Given the description of an element on the screen output the (x, y) to click on. 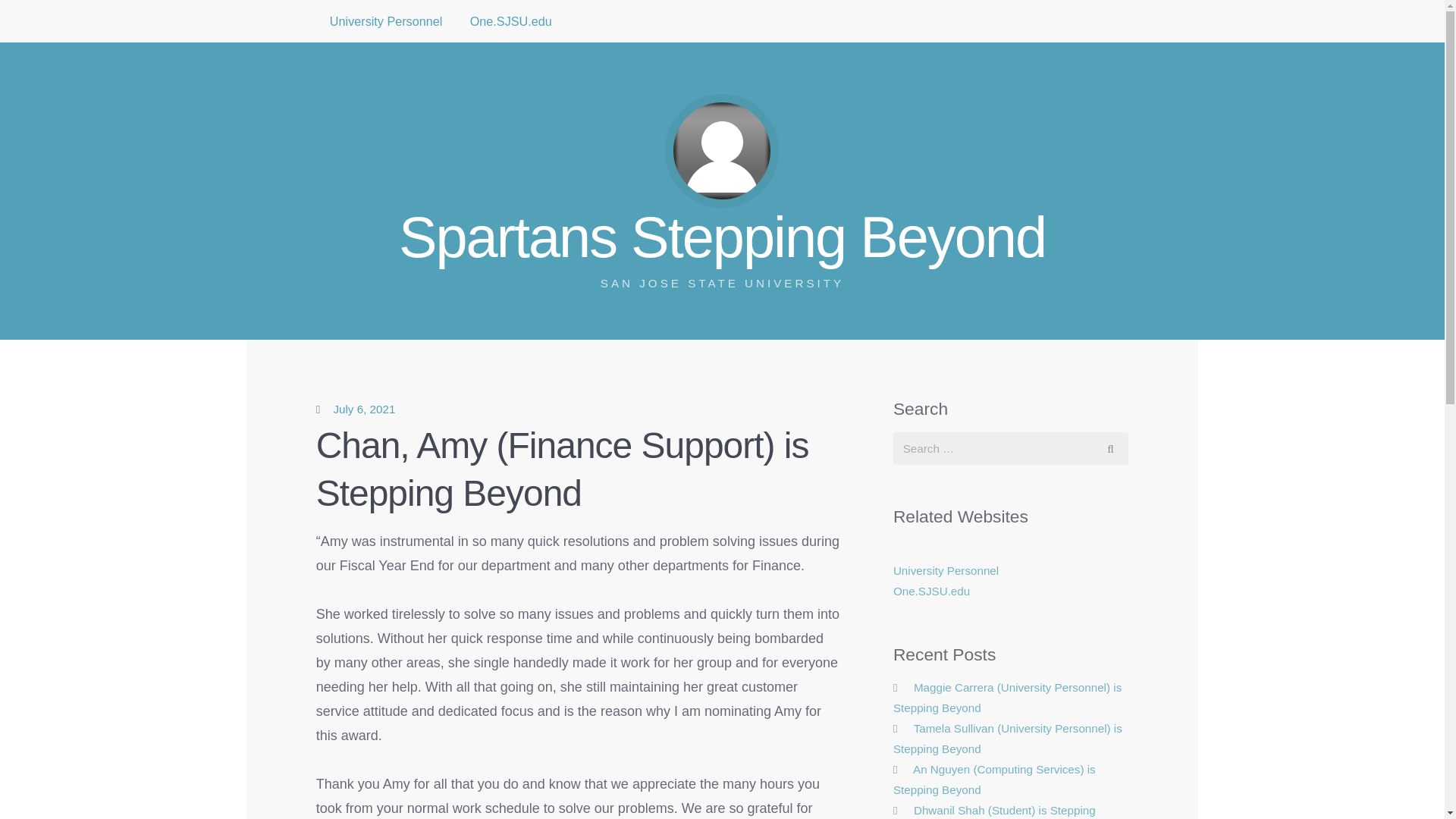
Search (1110, 448)
University Personnel (363, 408)
One.SJSU.edu (945, 570)
University Personnel (511, 21)
One.SJSU.edu (386, 21)
Spartans Stepping Beyond (931, 590)
